Given the description of an element on the screen output the (x, y) to click on. 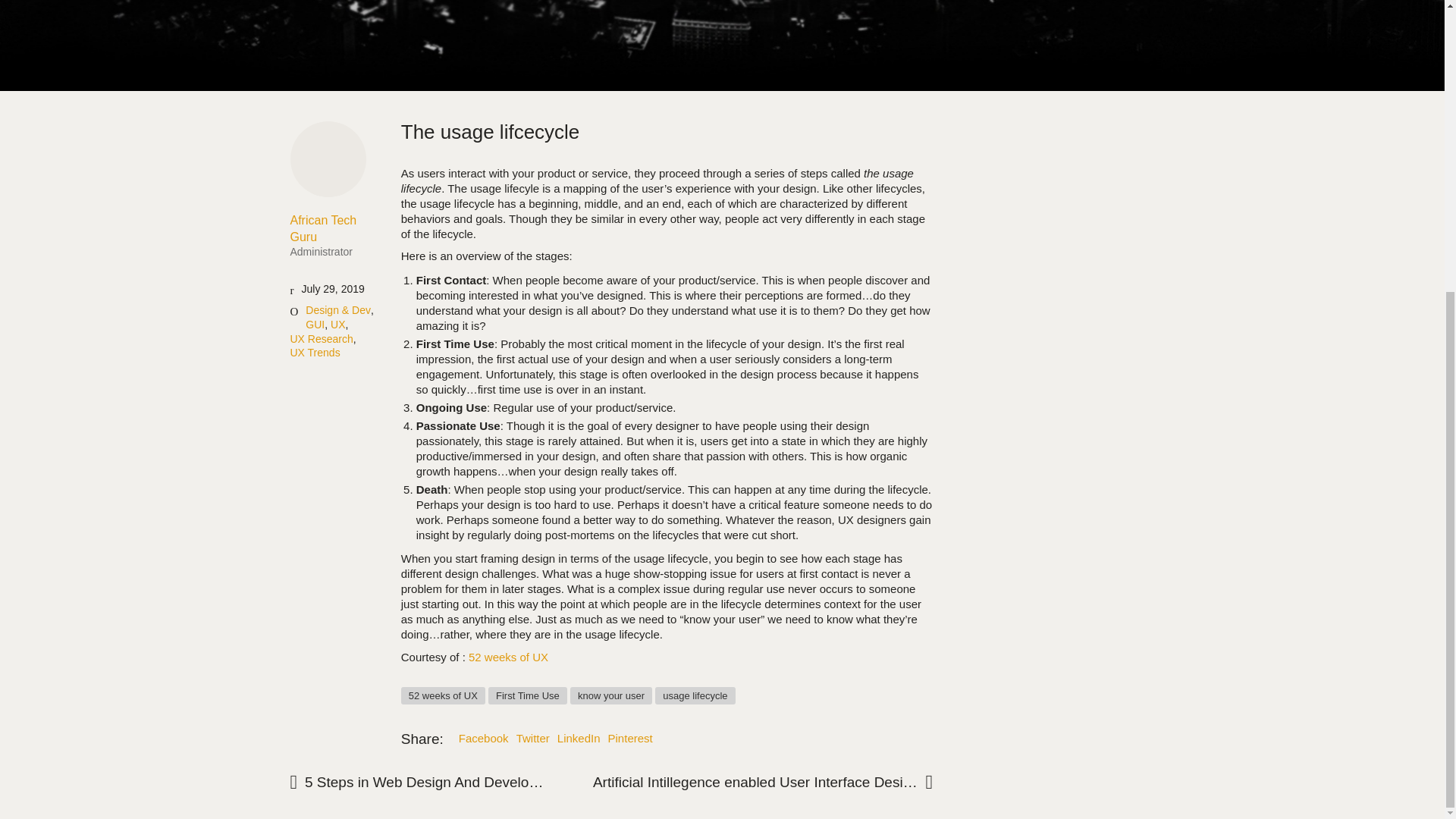
LinkedIn (578, 738)
usage lifecycle (695, 695)
Twitter (533, 738)
Facebook (483, 738)
52 weeks of UX (442, 695)
UX Trends (314, 352)
52 weeks of UX (333, 235)
know your user (508, 656)
UX Research (611, 695)
